Given the description of an element on the screen output the (x, y) to click on. 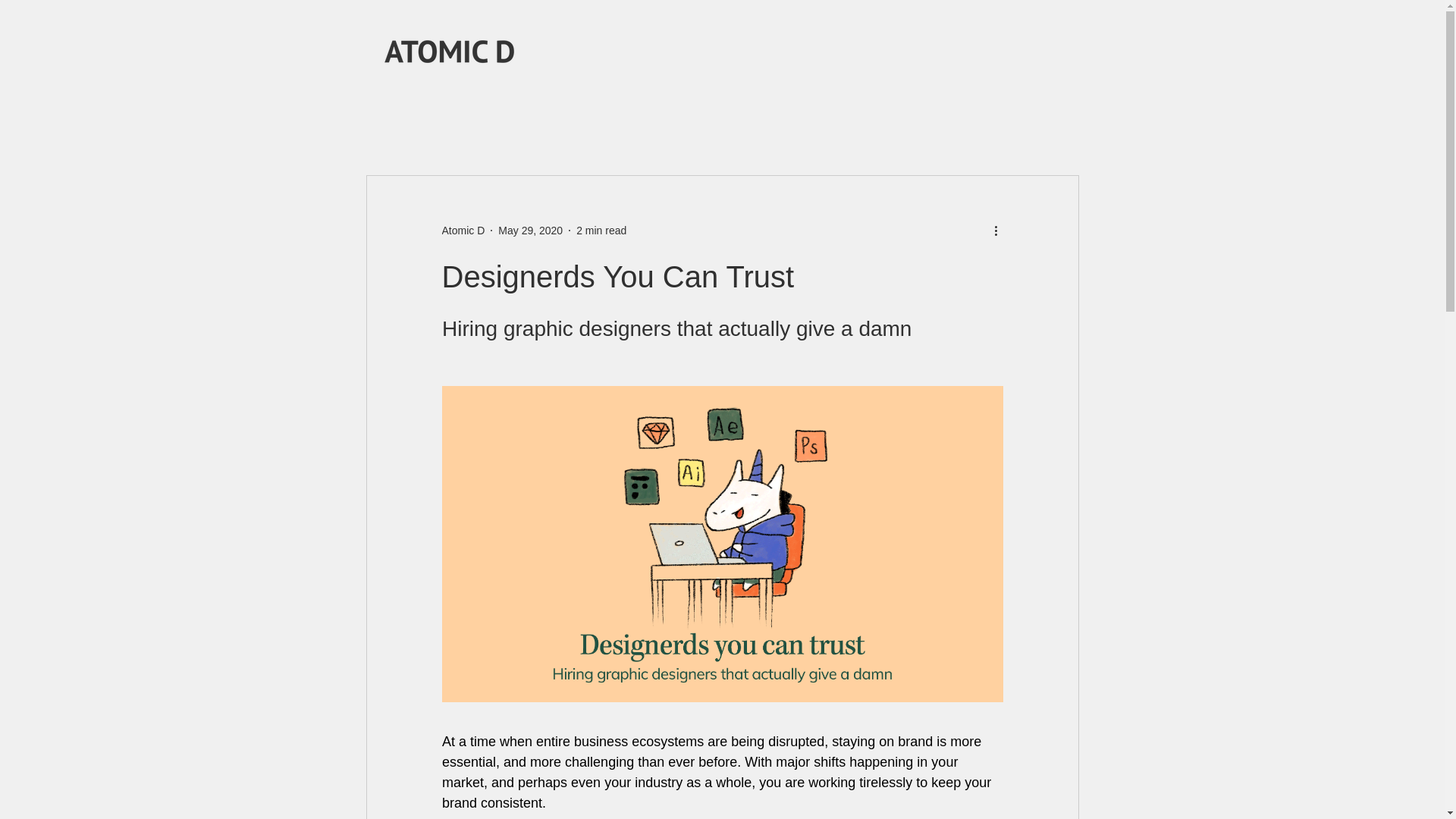
2 min read (601, 230)
Atomic D (462, 230)
May 29, 2020 (529, 230)
